Given the description of an element on the screen output the (x, y) to click on. 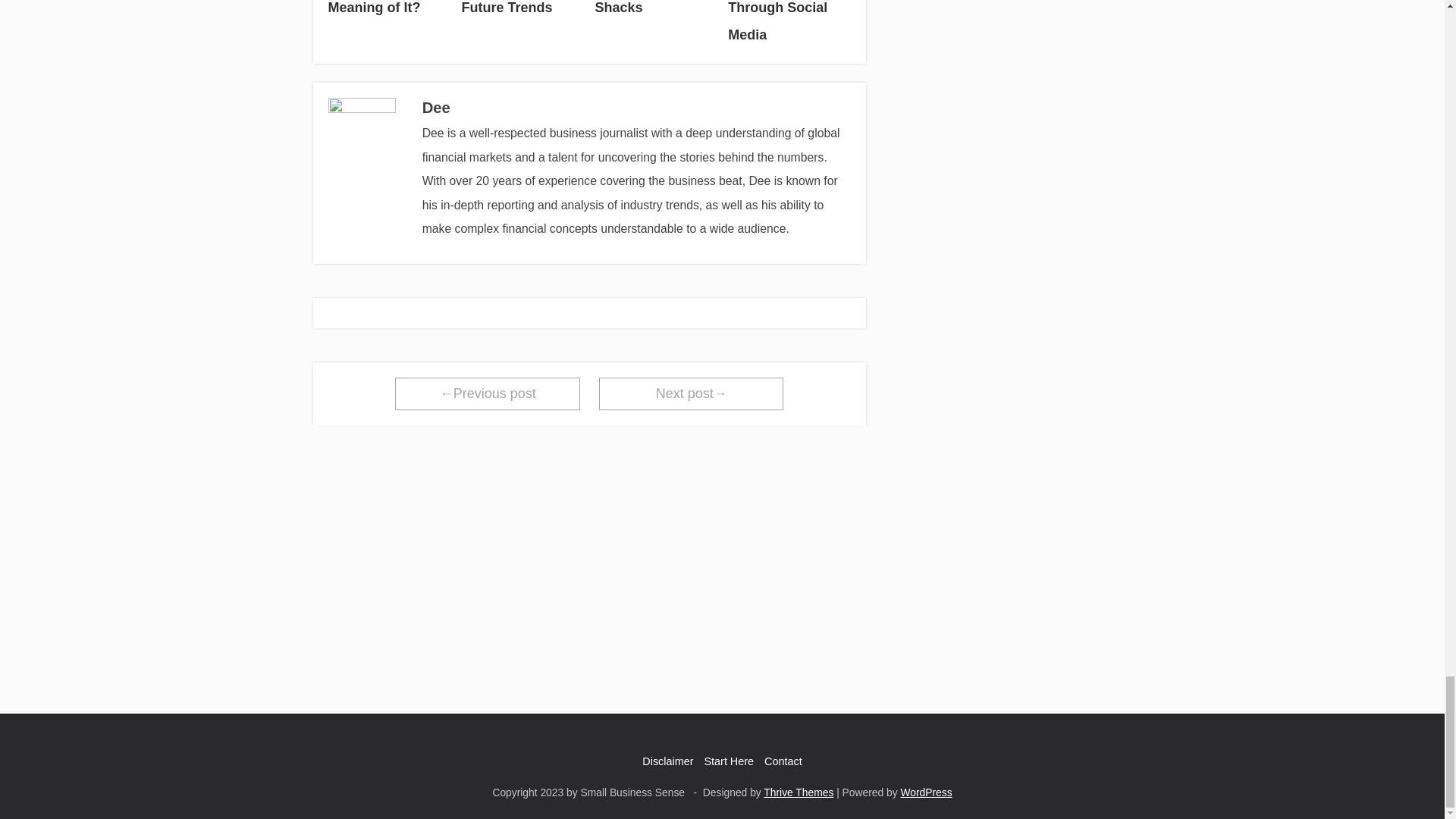
A Token in Cryptocurrency? What is the Meaning of It? (388, 10)
Understanding Retail: Fundamentals and Future Trends (522, 10)
5 Reasons Why Business Centers Need Guard Shacks (655, 10)
